Given the description of an element on the screen output the (x, y) to click on. 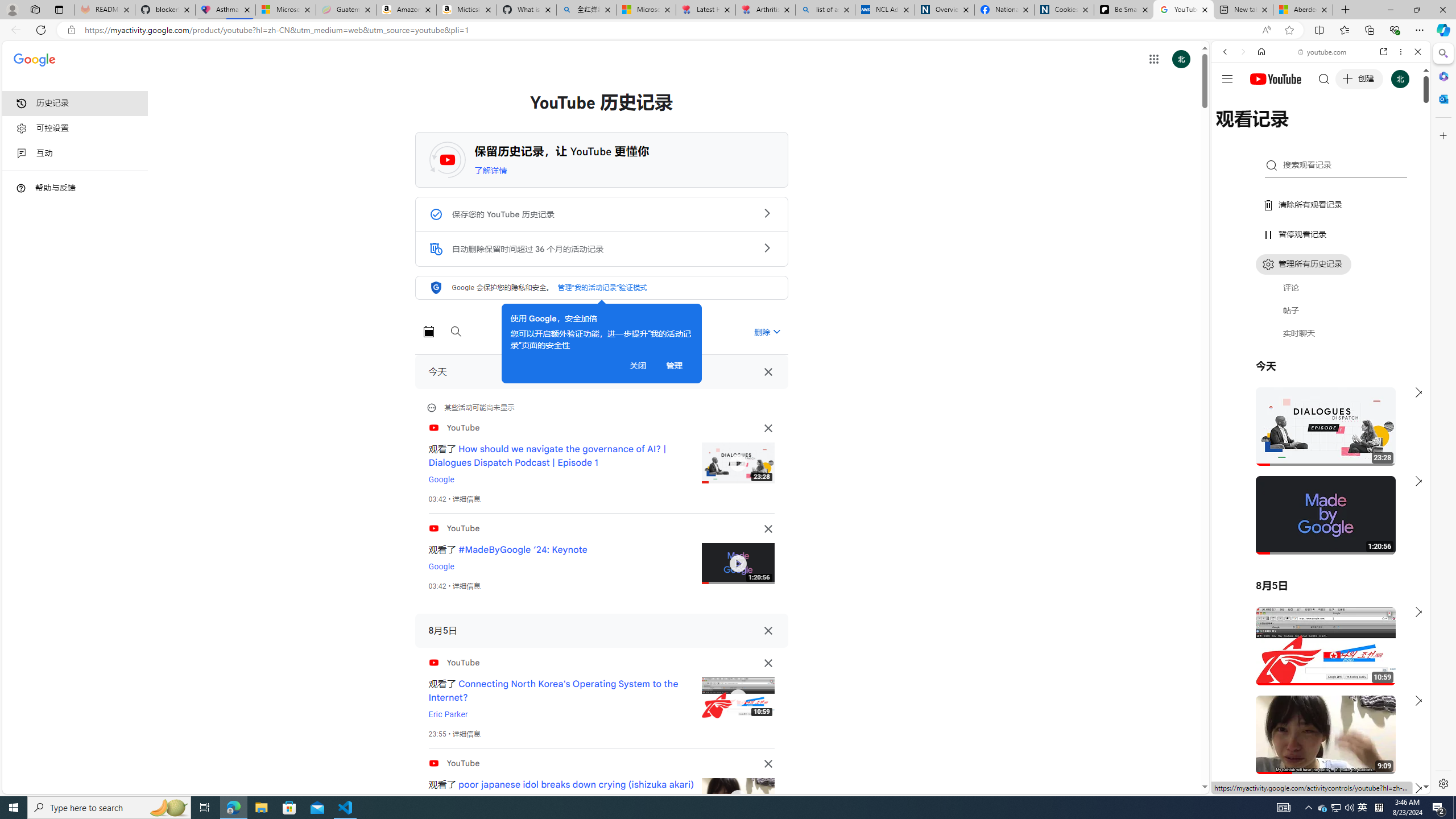
list of asthma inhalers uk - Search (825, 9)
Actions for this site (1371, 661)
Search Filter, Search Tools (1350, 129)
Search the web (1326, 78)
Forward (1242, 51)
Search videos from youtube.com (1299, 373)
Class: IVR0f NMm5M (738, 798)
